Given the description of an element on the screen output the (x, y) to click on. 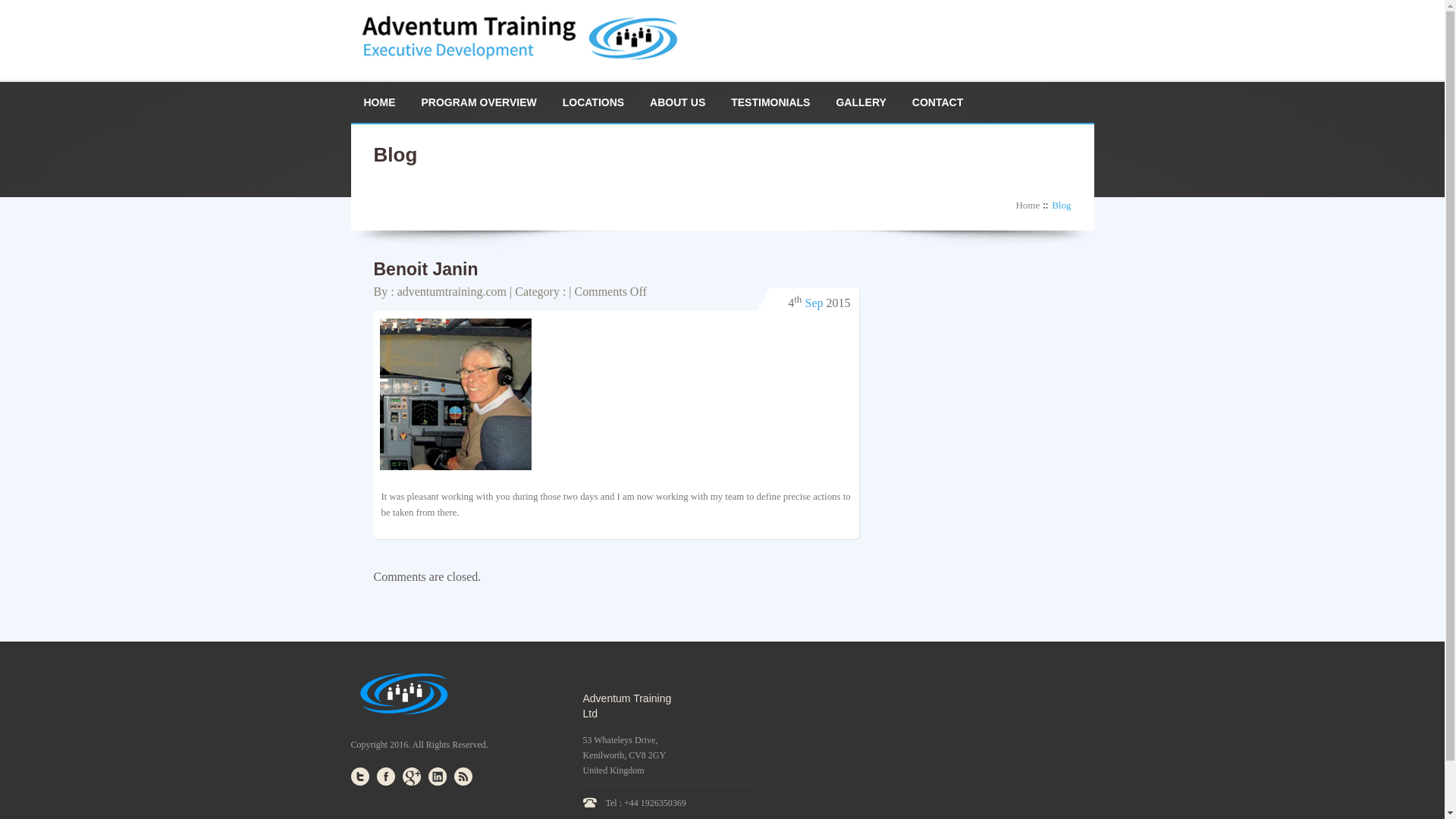
LOCATIONS (593, 101)
adventumtraining.com (451, 291)
HOME (378, 101)
PROGRAM OVERVIEW (477, 101)
Posts by adventumtraining.com (451, 291)
CONTACT (937, 101)
GALLERY (860, 101)
Benoit Janin (424, 269)
ABOUT US (677, 101)
TESTIMONIALS (769, 101)
Home (1031, 205)
